Given the description of an element on the screen output the (x, y) to click on. 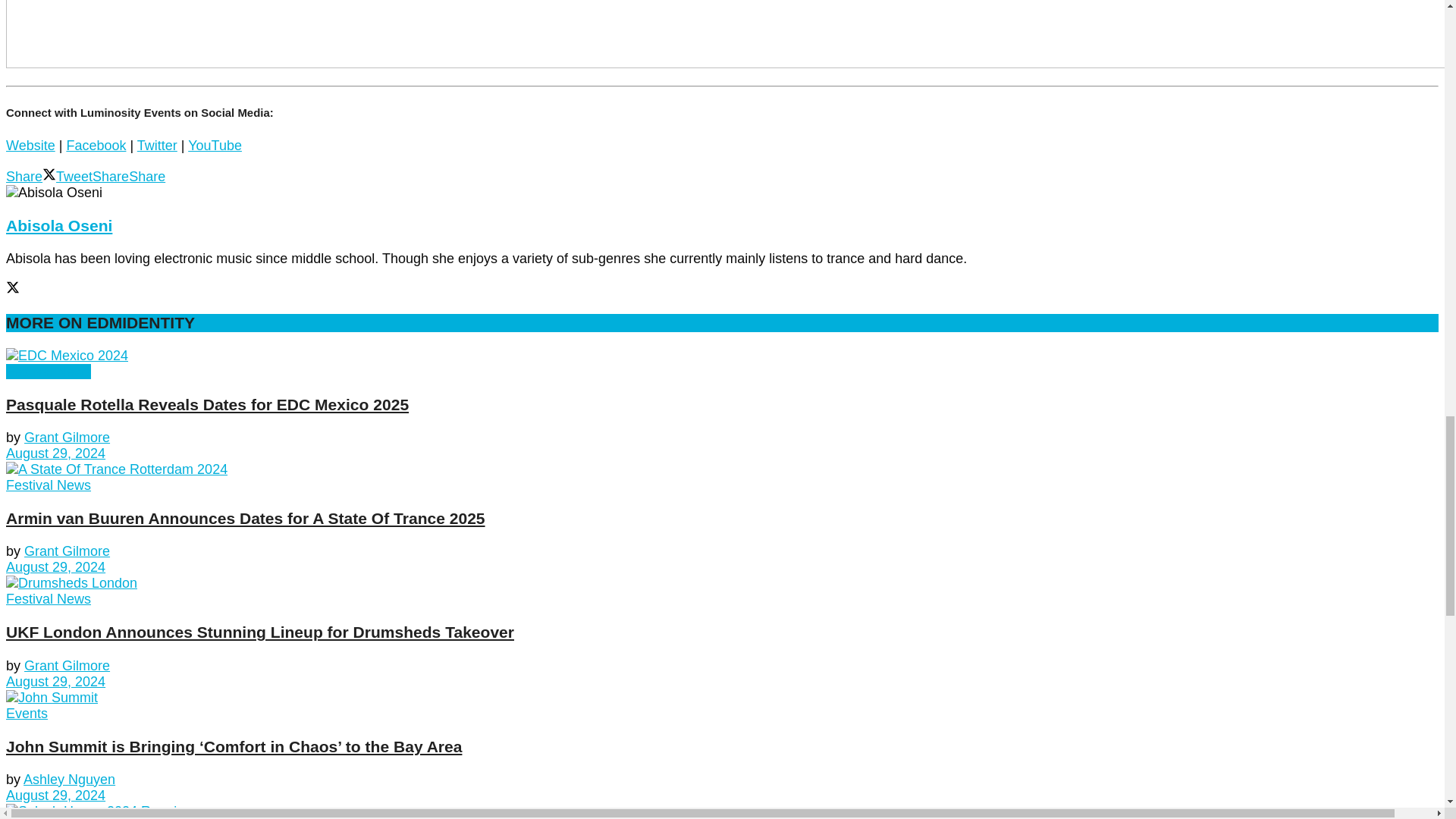
YouTube (214, 145)
Share (111, 176)
Share (23, 176)
Facebook (95, 145)
Tweet (67, 176)
Twitter (156, 145)
Website (30, 145)
